Given the description of an element on the screen output the (x, y) to click on. 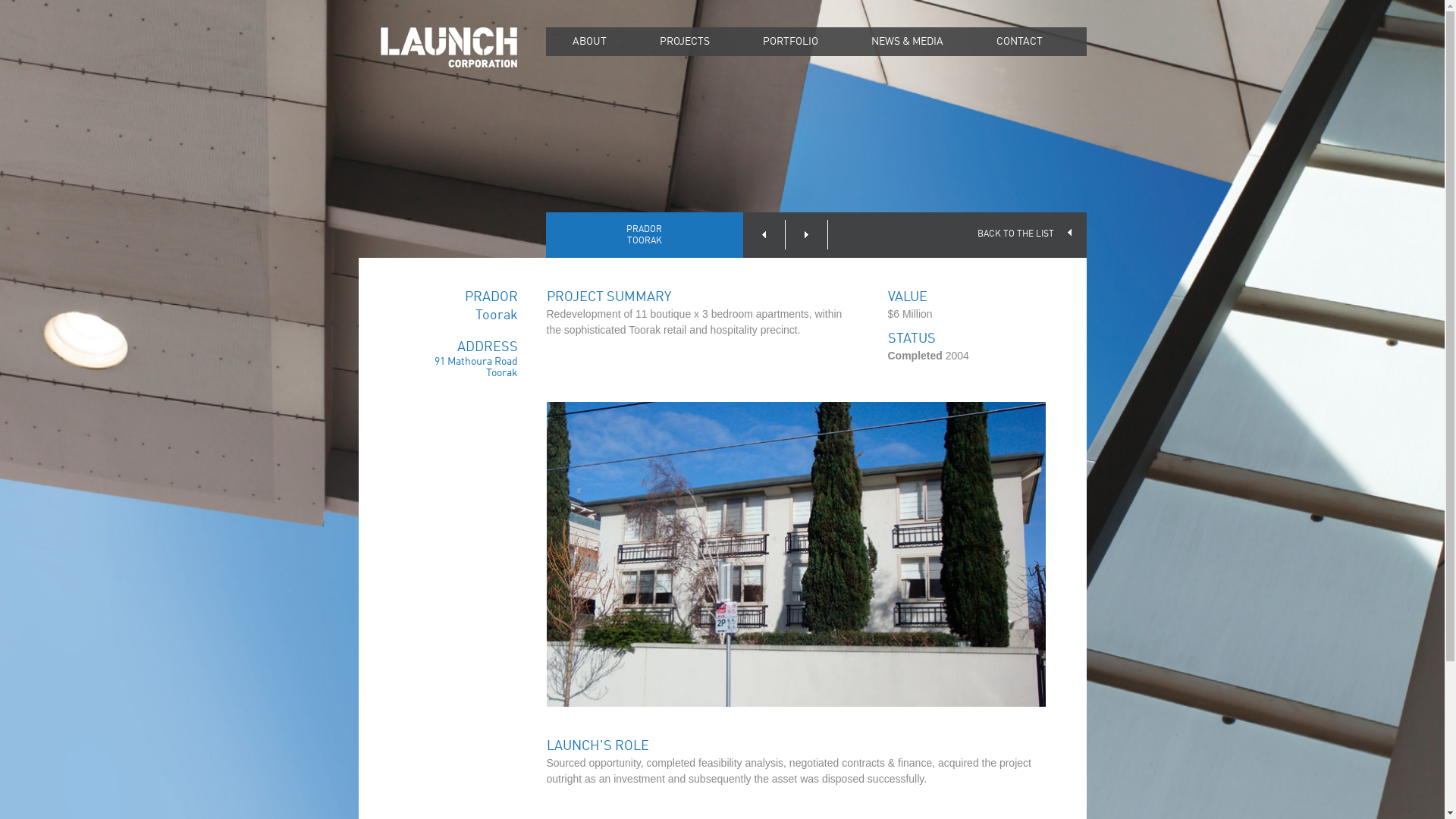
PROJECTS Element type: text (683, 42)
ABOUT Element type: text (589, 42)
PORTFOLIO Element type: text (789, 42)
BACK TO THE LIST Element type: text (1023, 233)
CONTACT Element type: text (1018, 42)
NEWS & MEDIA Element type: text (906, 42)
